Given the description of an element on the screen output the (x, y) to click on. 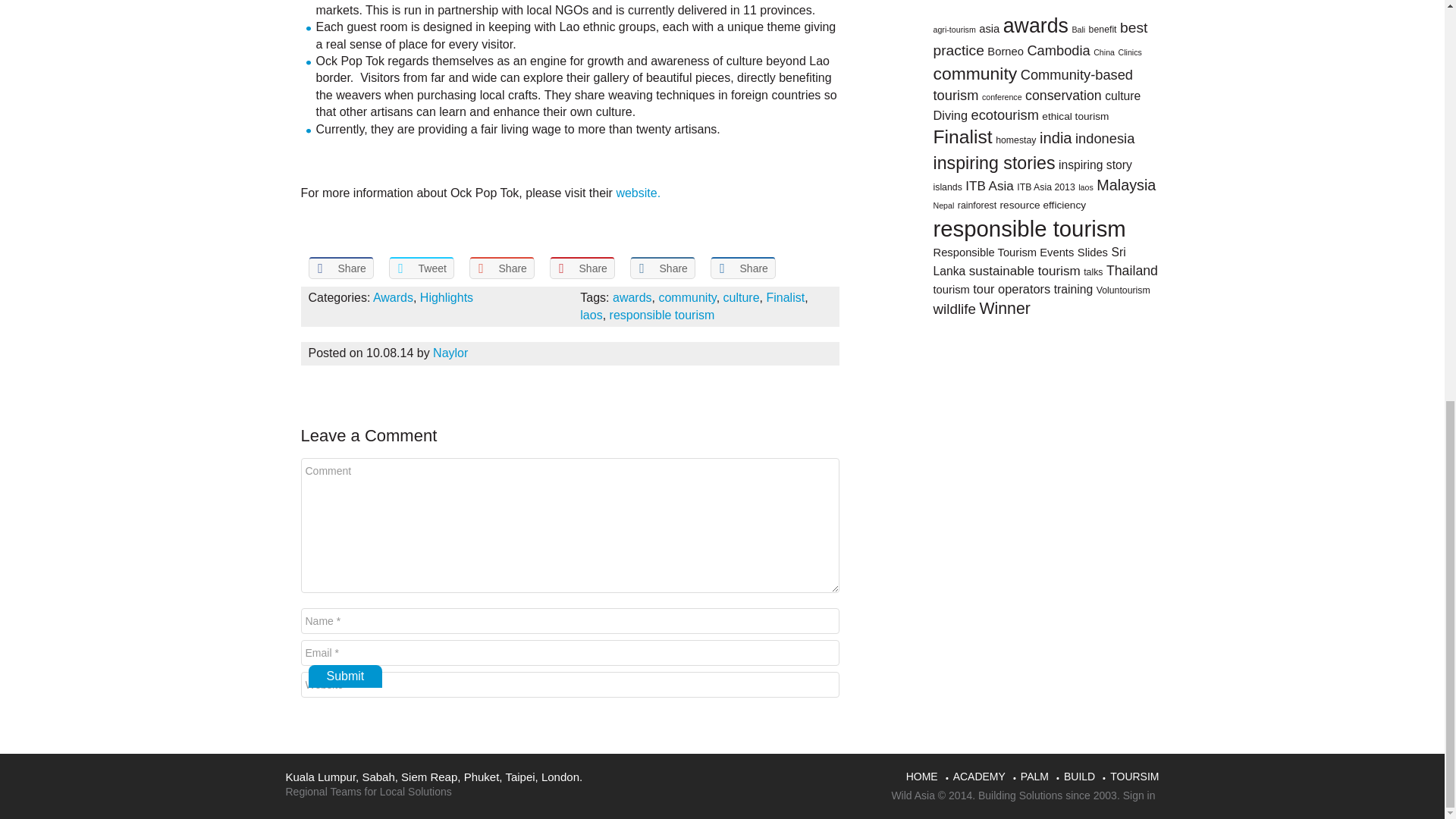
laos (590, 314)
Share on LinkedIn (661, 268)
Highlights (446, 297)
Finalist (785, 297)
Awards (392, 297)
culture (741, 297)
community (687, 297)
Share on Pinterest (581, 268)
website. (638, 192)
Share on Twitter (420, 268)
